Given the description of an element on the screen output the (x, y) to click on. 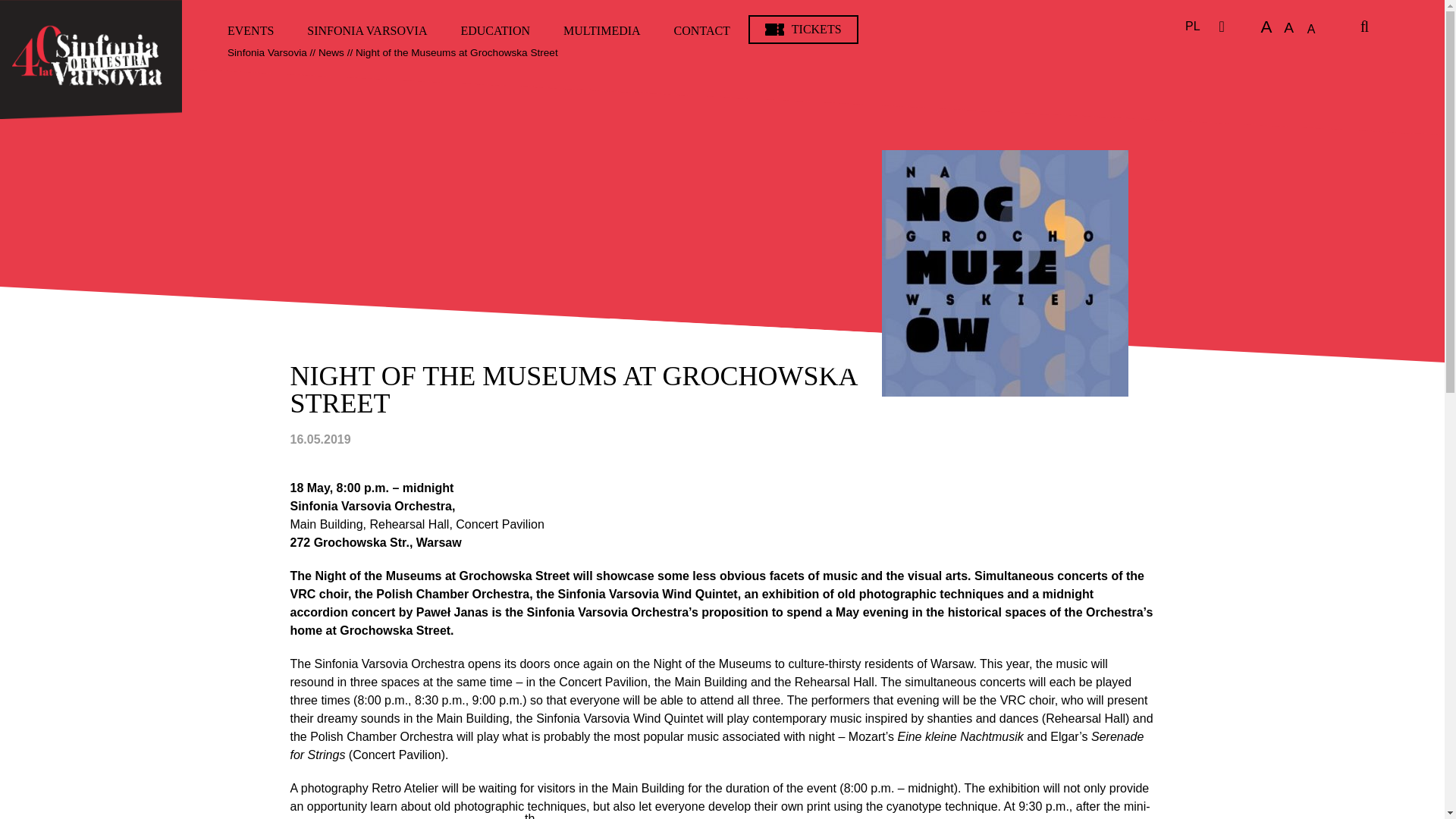
PL (1192, 25)
News (330, 52)
CONTACT (702, 31)
EVENTS (250, 31)
Sinfonia Varsovia (267, 52)
SINFONIA VARSOVIA (367, 31)
Go to the News category archives. (330, 52)
Sinfonia Varsovia (91, 59)
EDUCATION (494, 31)
TICKETS (803, 29)
